Given the description of an element on the screen output the (x, y) to click on. 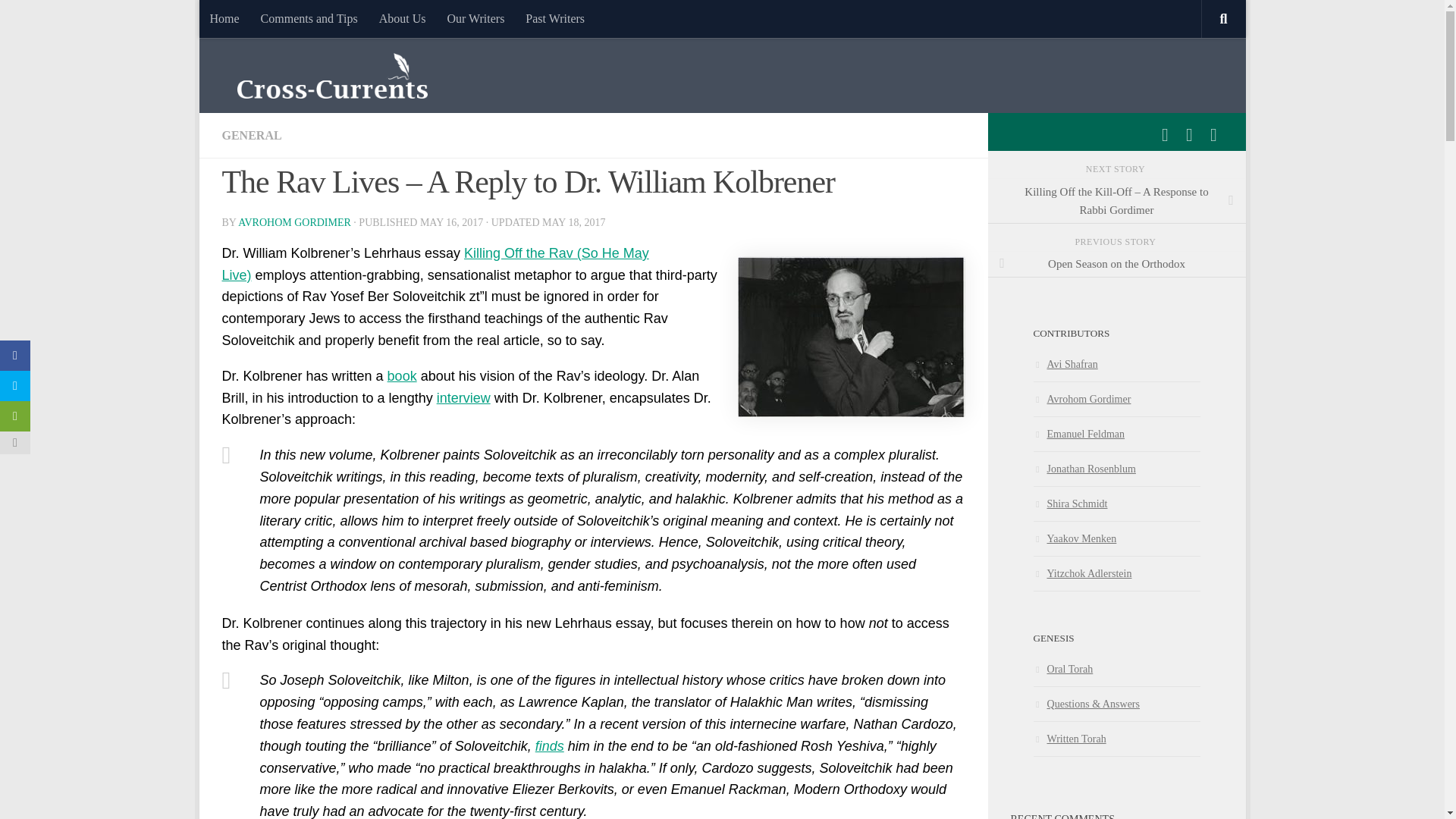
Follow us on Facebook (1164, 135)
interview (463, 397)
Follow us on Twitter (1188, 135)
Comments and Tips (309, 18)
AVROHOM GORDIMER (294, 222)
Shira Schmidt (1069, 503)
Posts by Avrohom Gordimer (294, 222)
Jonathan Rosenblum (1083, 468)
Past Writers (555, 18)
Home (223, 18)
About Us (402, 18)
Yaakov Menken (1074, 538)
Emanuel Feldman (1078, 433)
Follow us on Rss (1213, 135)
book (401, 376)
